Given the description of an element on the screen output the (x, y) to click on. 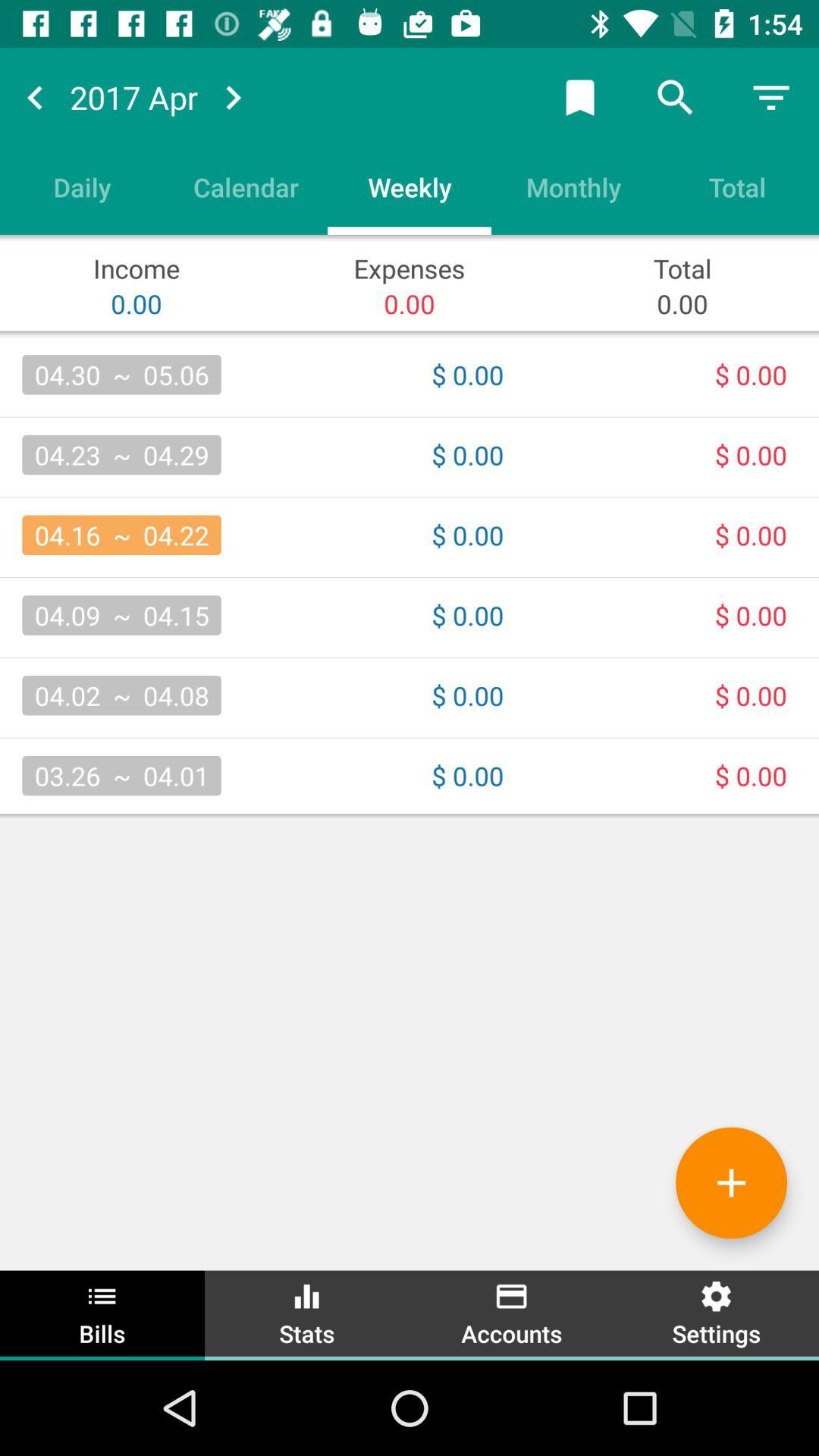
open the item to the right of daily icon (245, 186)
